Given the description of an element on the screen output the (x, y) to click on. 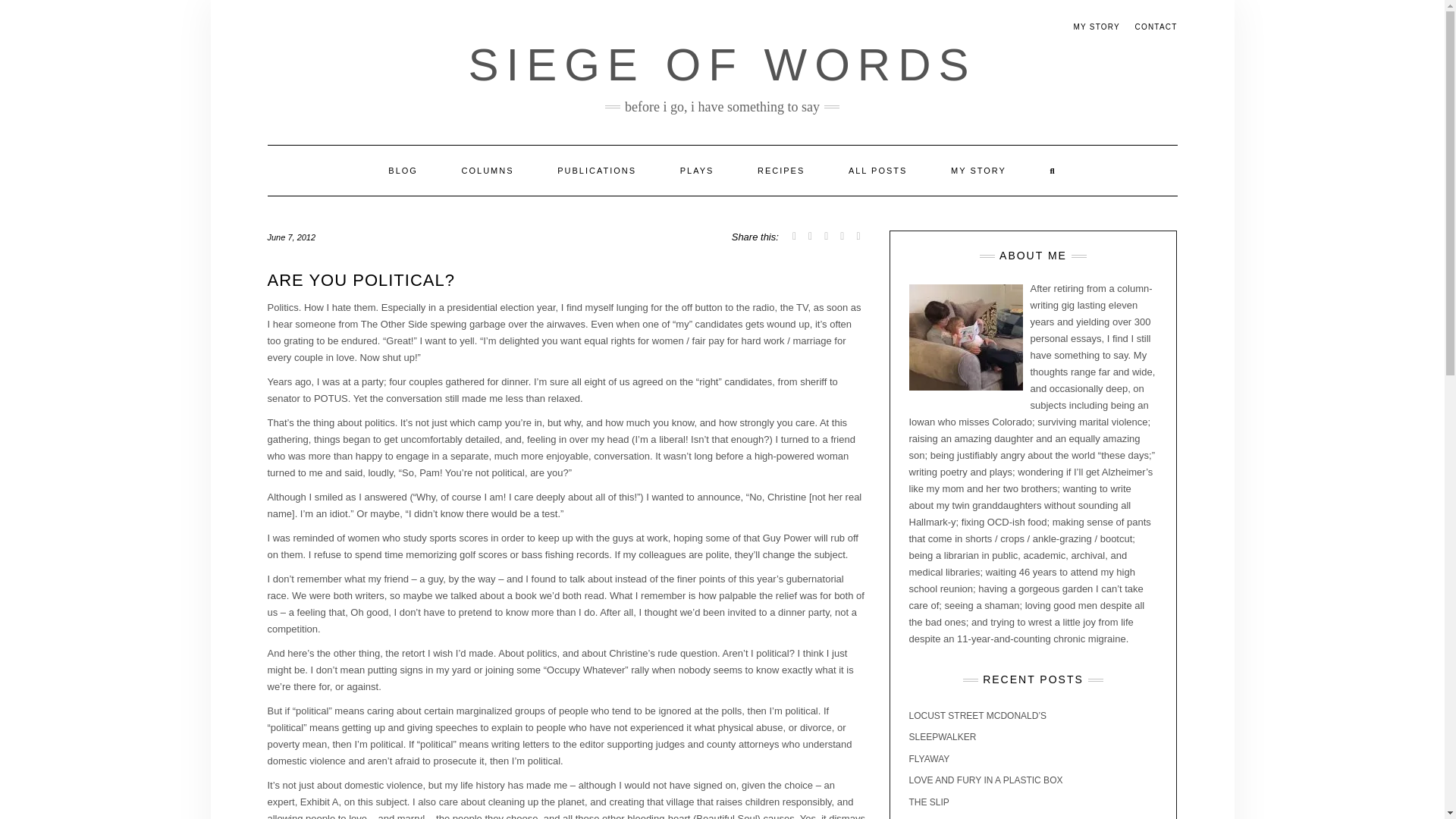
MY STORY (1096, 26)
RECIPES (780, 170)
PLAYS (697, 170)
LOVE AND FURY IN A PLASTIC BOX (985, 779)
CONTACT (1155, 26)
FLYAWAY (928, 758)
MY STORY (978, 170)
PUBLICATIONS (596, 170)
SIEGE OF WORDS (721, 64)
SEARCH HERE (1053, 170)
